Given the description of an element on the screen output the (x, y) to click on. 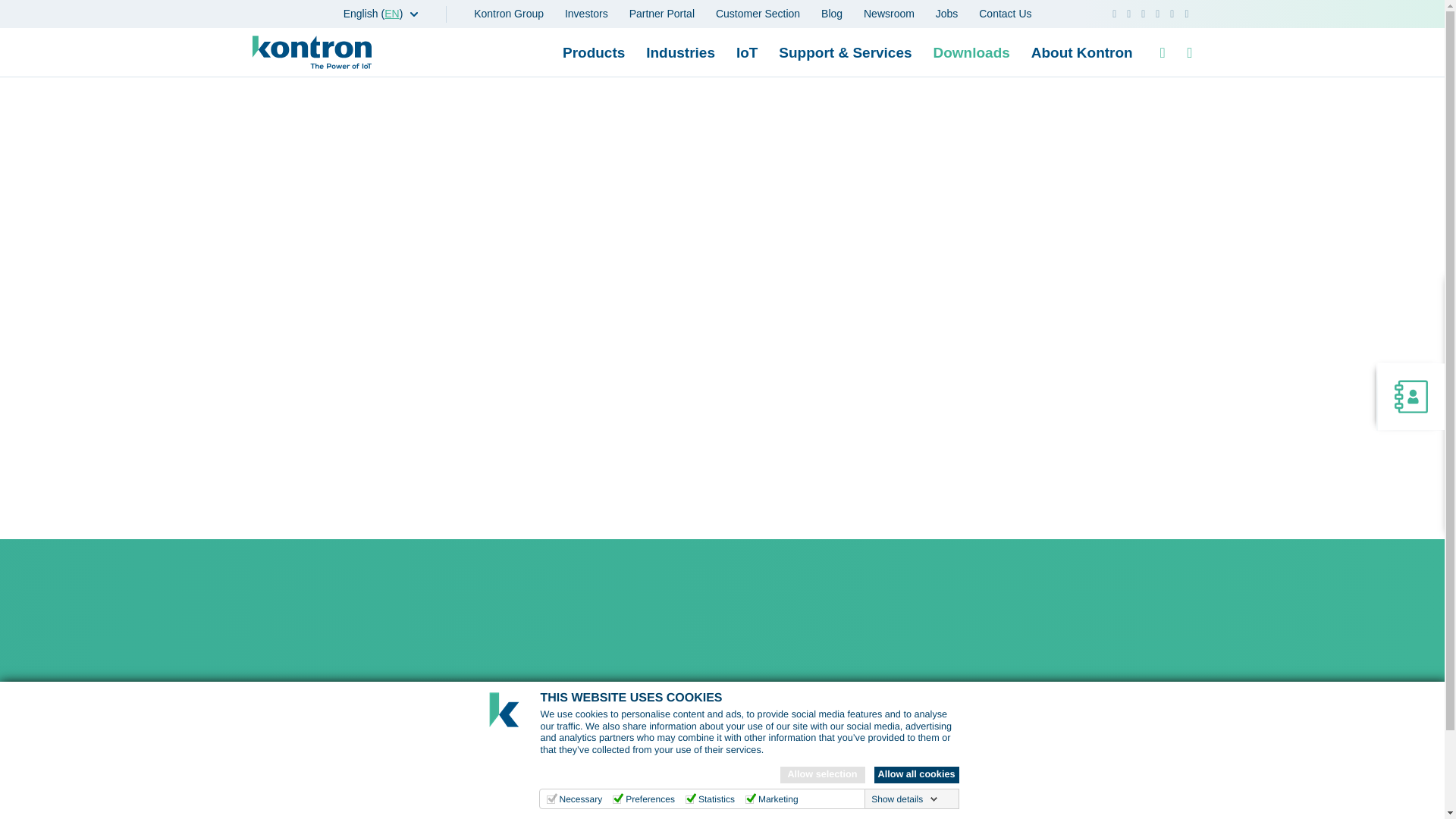
Allow selection (821, 774)
Allow all cookies (915, 774)
Show details (903, 799)
